Given the description of an element on the screen output the (x, y) to click on. 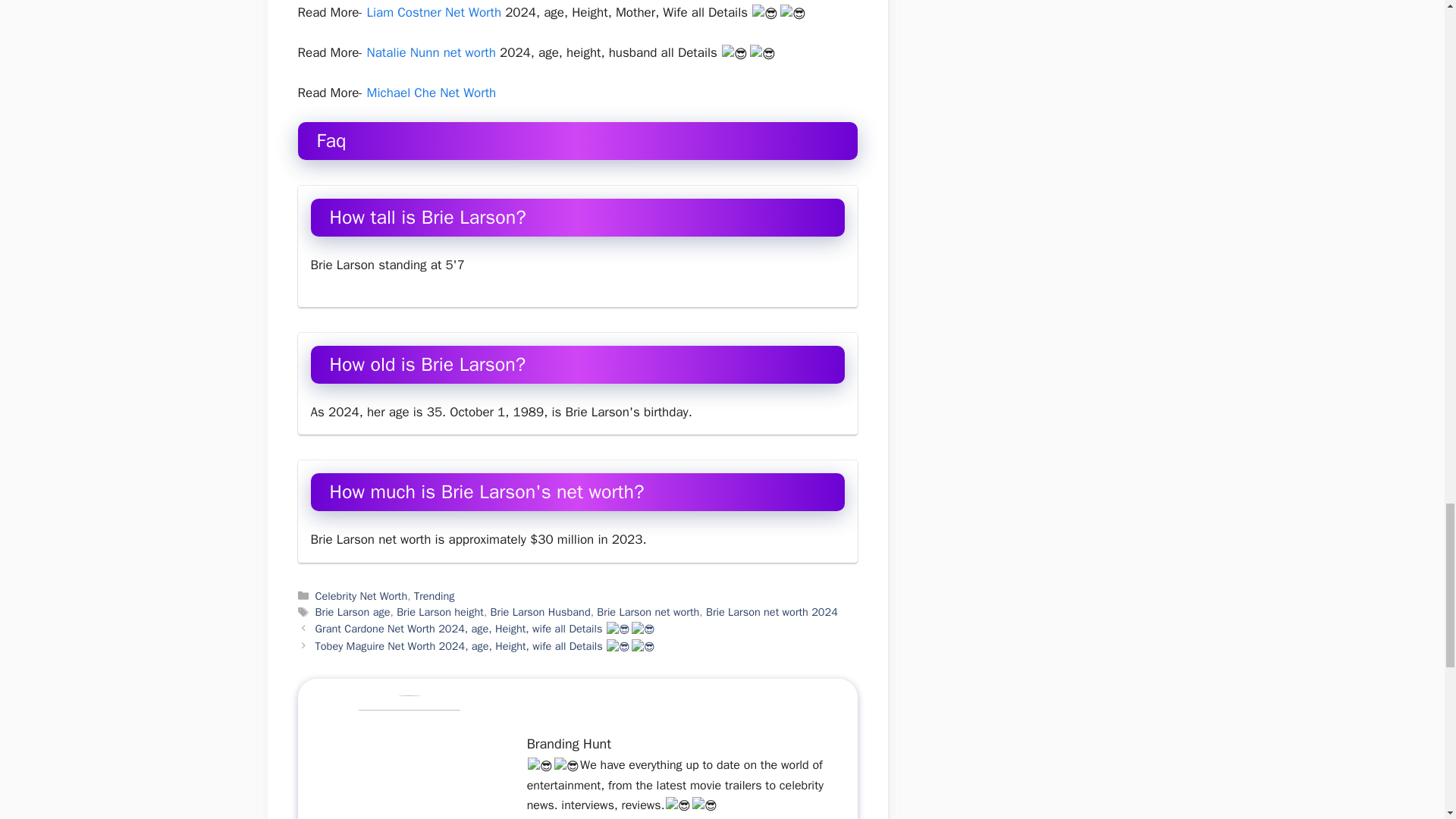
Liam Costner Net Worth (434, 12)
... (537, 809)
Brie Larson net worth (647, 612)
Celebrity Net Worth (361, 595)
Trending (433, 595)
Brie Larson age (352, 612)
Brie Larson net worth 2024 (772, 612)
Read more about this author (537, 809)
Tobey Maguire Net Worth 2024, age, Height, wife all Details (485, 645)
Michael Che Net Worth (431, 92)
Grant Cardone Net Worth 2024, age, Height, wife all Details (485, 628)
Brie Larson height (439, 612)
Brie Larson Husband (540, 612)
Natalie Nunn net worth (431, 52)
